Given the description of an element on the screen output the (x, y) to click on. 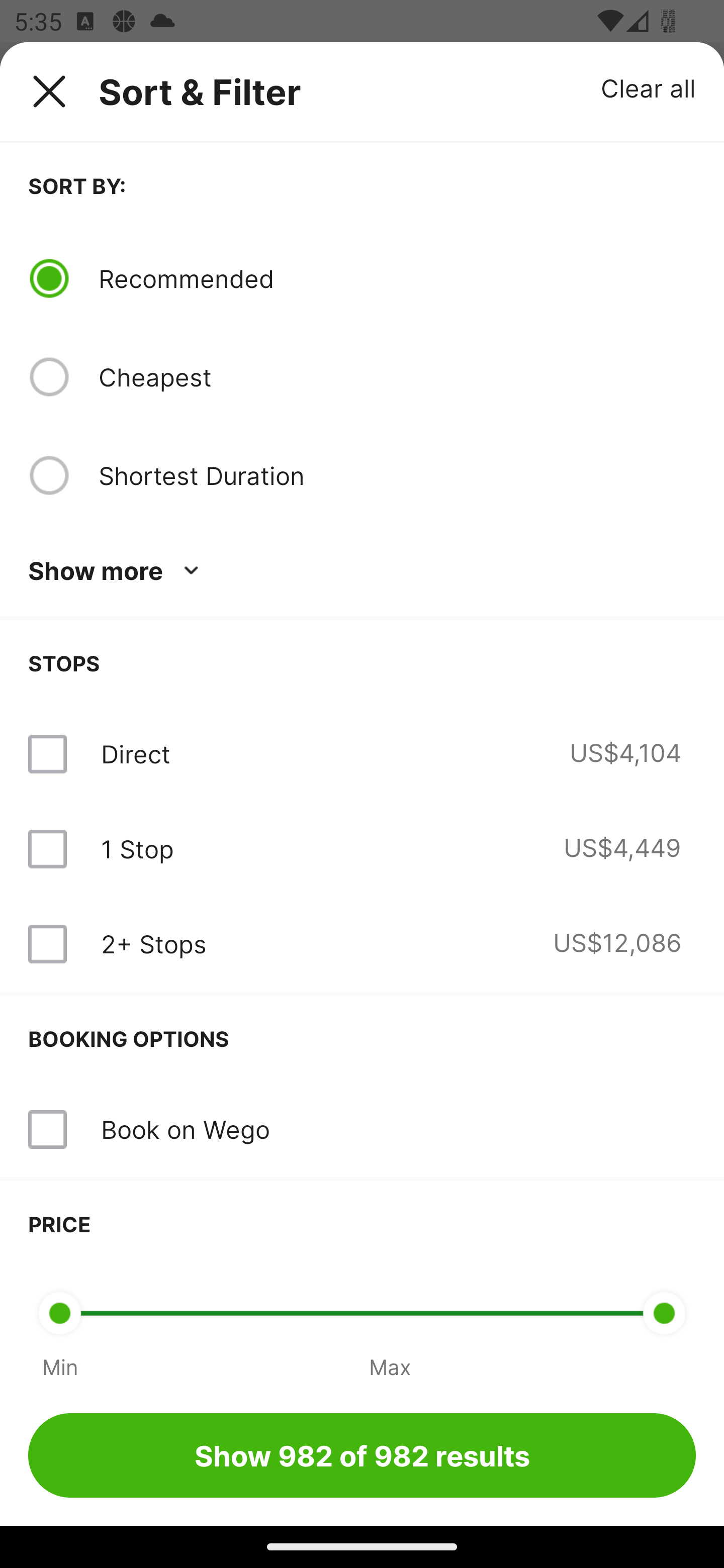
Clear all (648, 87)
Recommended  (396, 278)
Cheapest (396, 377)
Shortest Duration (396, 474)
Show more (116, 570)
Direct US$4,104 (362, 754)
Direct (135, 753)
1 Stop US$4,449 (362, 848)
1 Stop (136, 849)
2+ Stops US$12,086 (362, 943)
2+ Stops (153, 943)
Book on Wego (362, 1129)
Book on Wego (184, 1128)
Show 982 of 982 results (361, 1454)
